Given the description of an element on the screen output the (x, y) to click on. 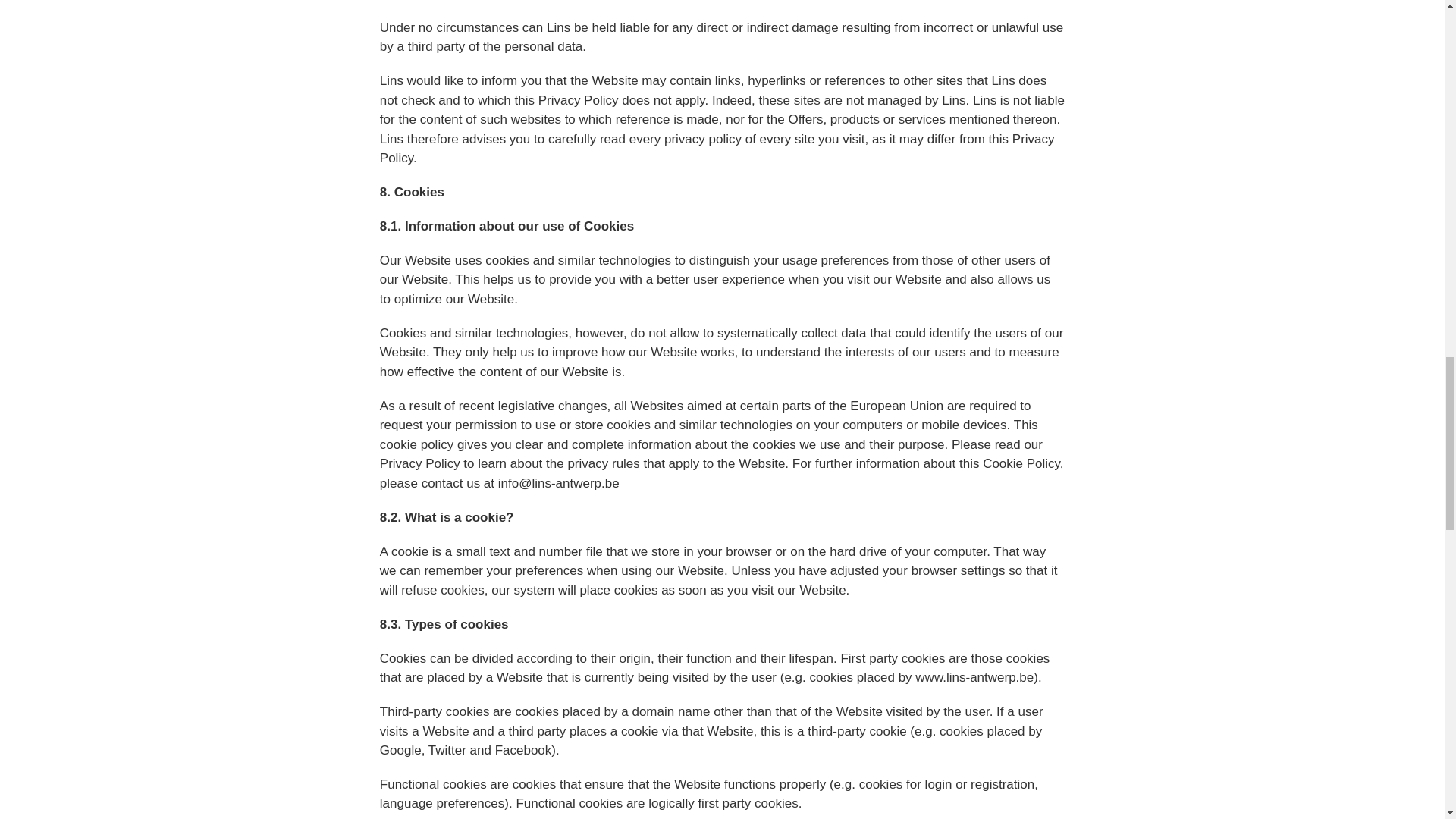
www (928, 678)
